Given the description of an element on the screen output the (x, y) to click on. 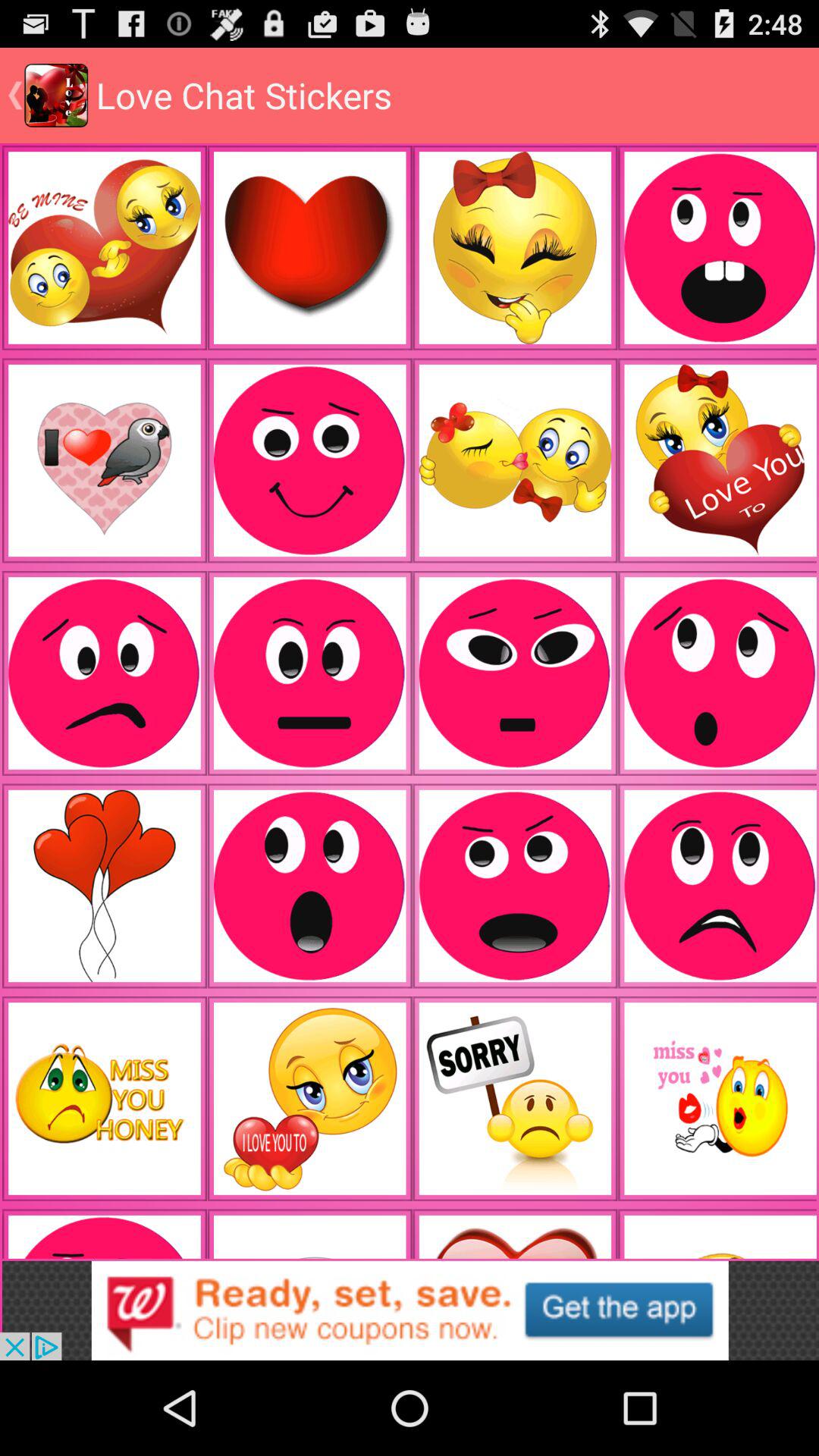
open advertisement (409, 1310)
